Given the description of an element on the screen output the (x, y) to click on. 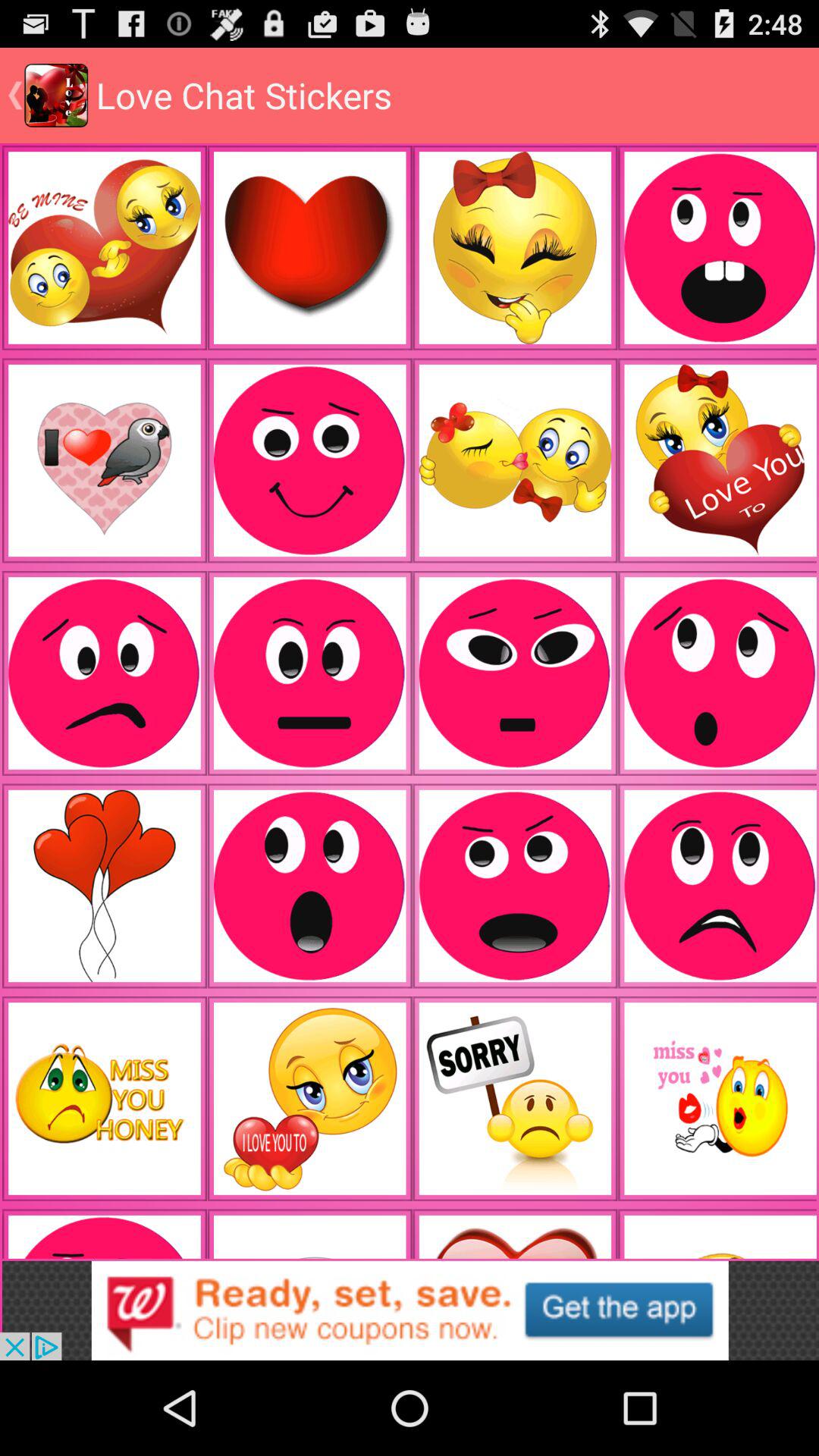
open advertisement (409, 1310)
